Given the description of an element on the screen output the (x, y) to click on. 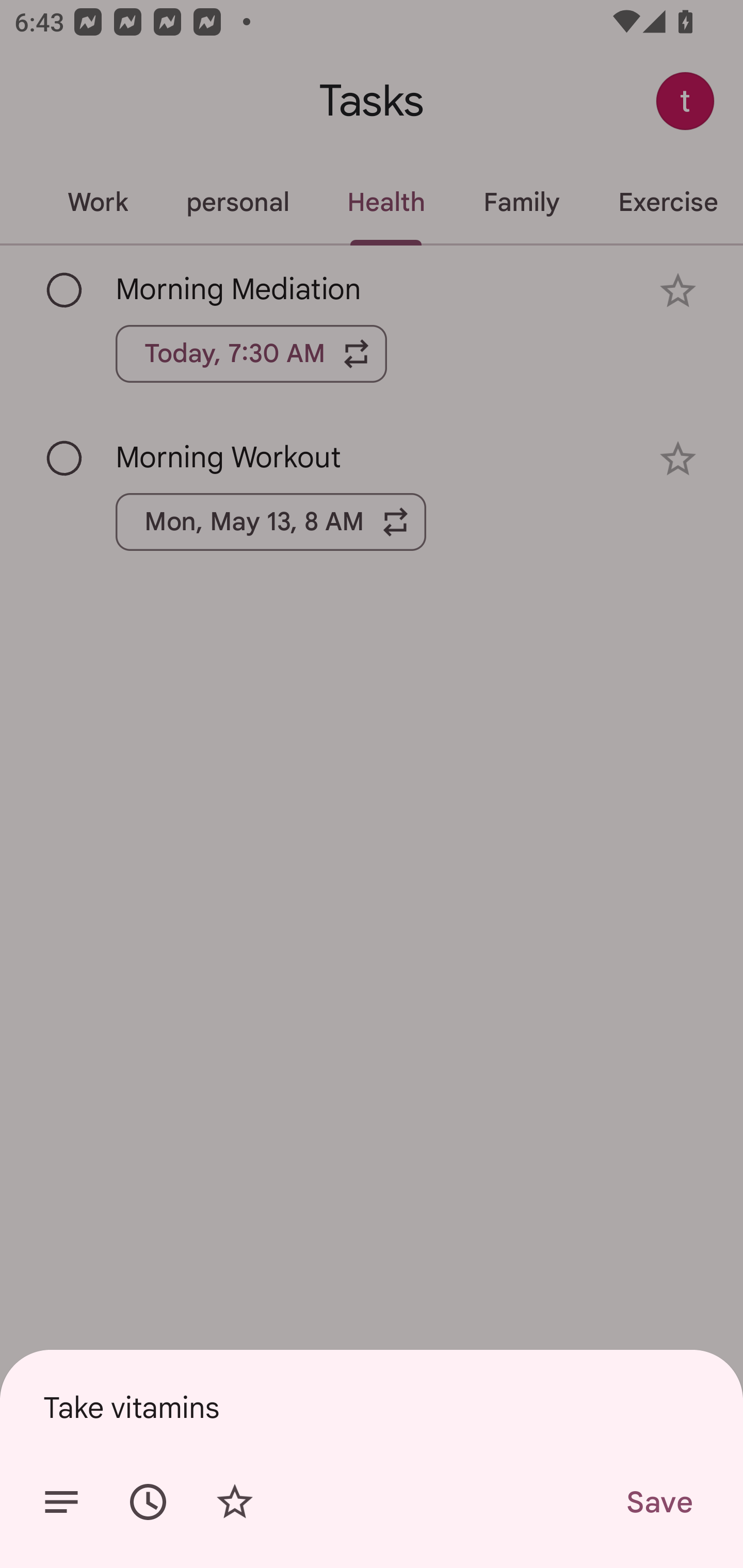
Take vitamins (371, 1407)
Save (659, 1501)
Add details (60, 1501)
Set date/time (147, 1501)
Add star (234, 1501)
